Given the description of an element on the screen output the (x, y) to click on. 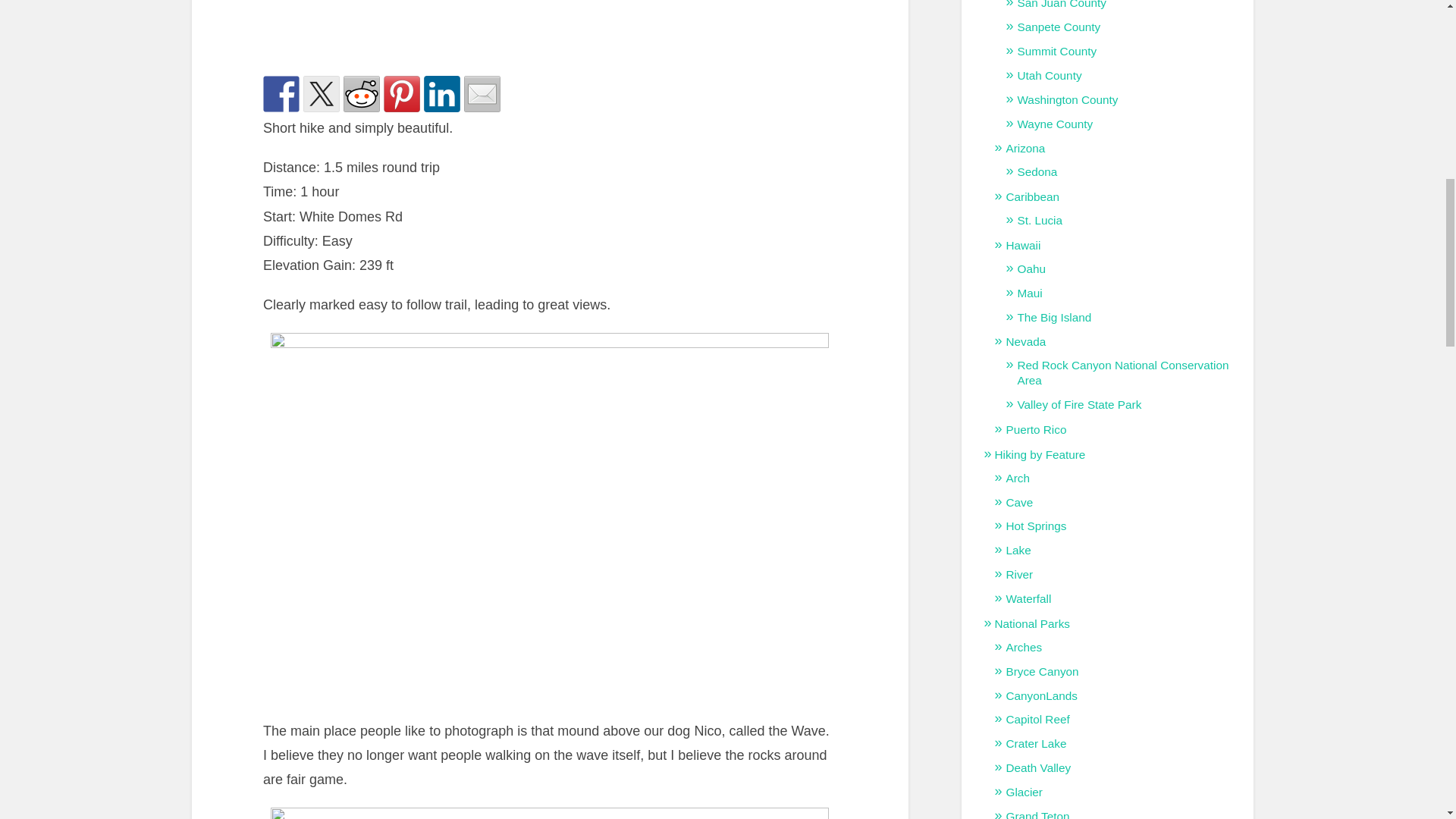
Share on Reddit (361, 94)
Share on Linkedin (441, 94)
Pin it with Pinterest (402, 94)
Share on Twitter (320, 94)
Share on Facebook (281, 94)
Share by email (482, 94)
